Given the description of an element on the screen output the (x, y) to click on. 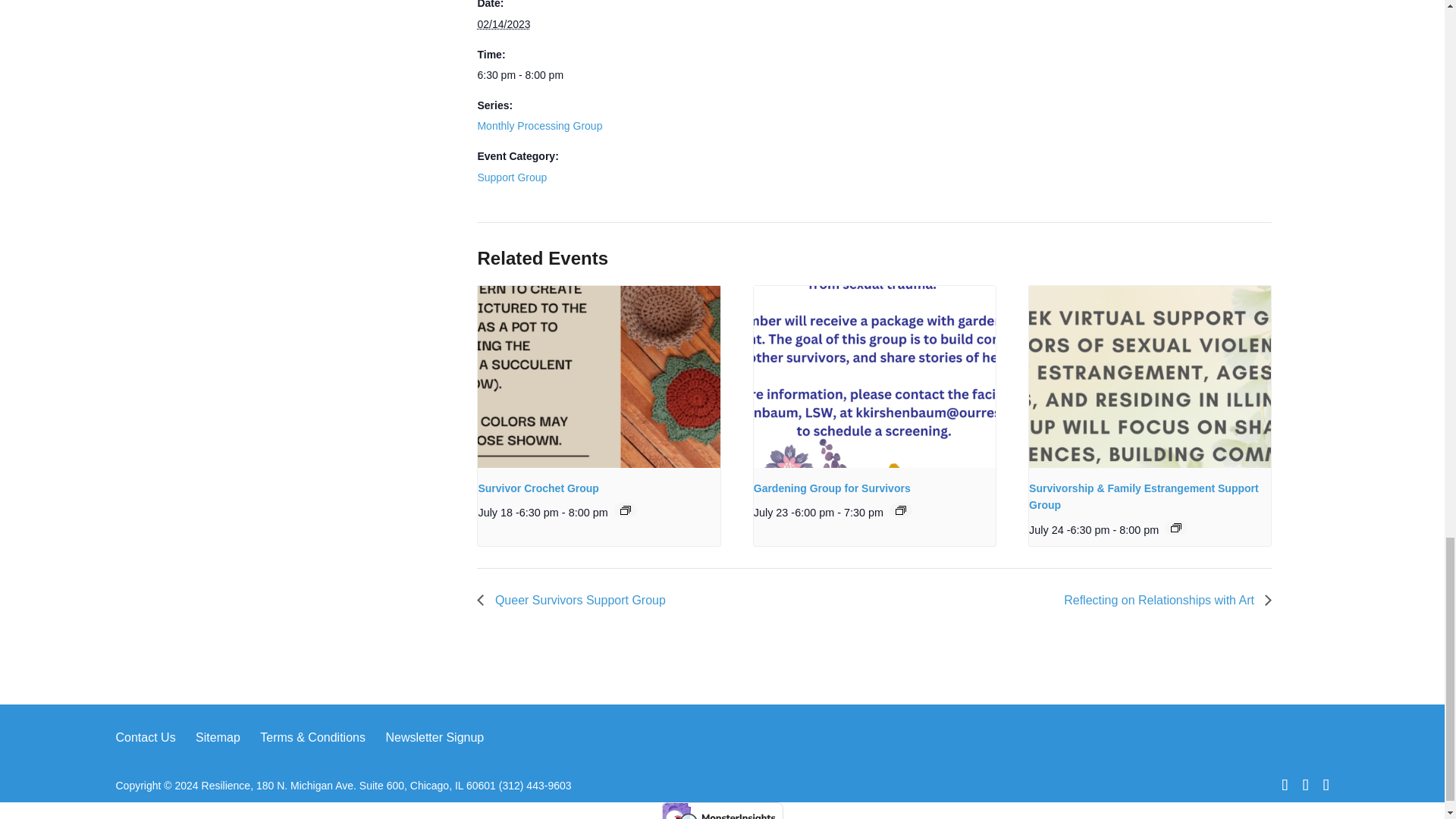
Event Series (625, 510)
Verified by MonsterInsights (722, 810)
2023-02-14 (503, 24)
2023-02-14 (540, 75)
Event Series (900, 510)
Monthly Processing Group (539, 125)
Event Series (1175, 527)
